Given the description of an element on the screen output the (x, y) to click on. 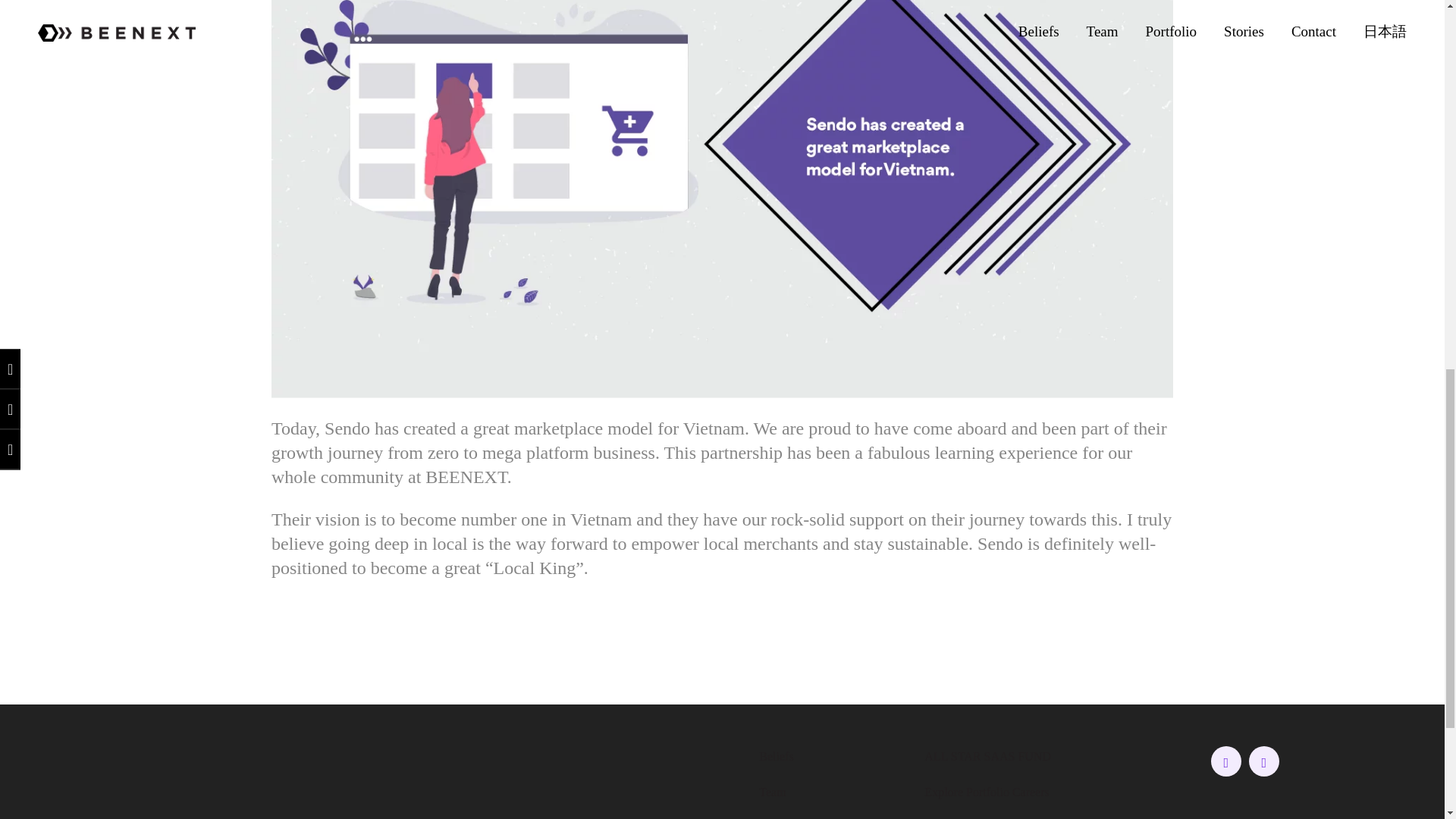
Beliefs (775, 756)
ALL STAR SAAS FUND (987, 756)
Team (772, 791)
Explore Portfolio Careers (986, 791)
